Given the description of an element on the screen output the (x, y) to click on. 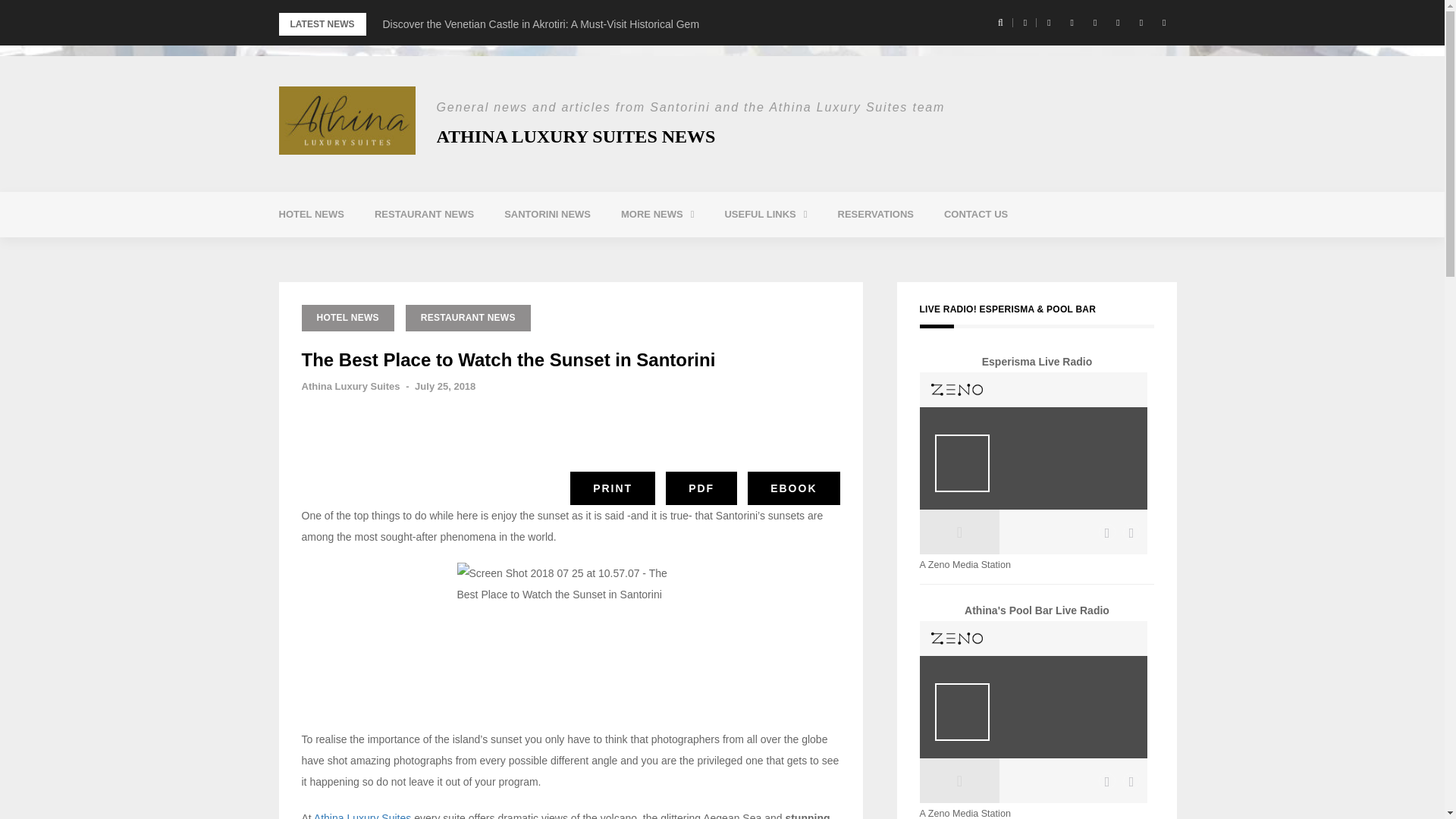
USEFUL LINKS (765, 214)
Our Suites (811, 252)
Our Suites (811, 252)
More news (657, 214)
News about Greece (707, 252)
CONTACT US (975, 214)
Hotel news (311, 214)
ATHINA LUXURY SUITES NEWS (576, 136)
Restaurant news (424, 214)
Santorini news (547, 214)
RESTAURANT NEWS (424, 214)
News about Greece (707, 252)
Useful links (765, 214)
